Given the description of an element on the screen output the (x, y) to click on. 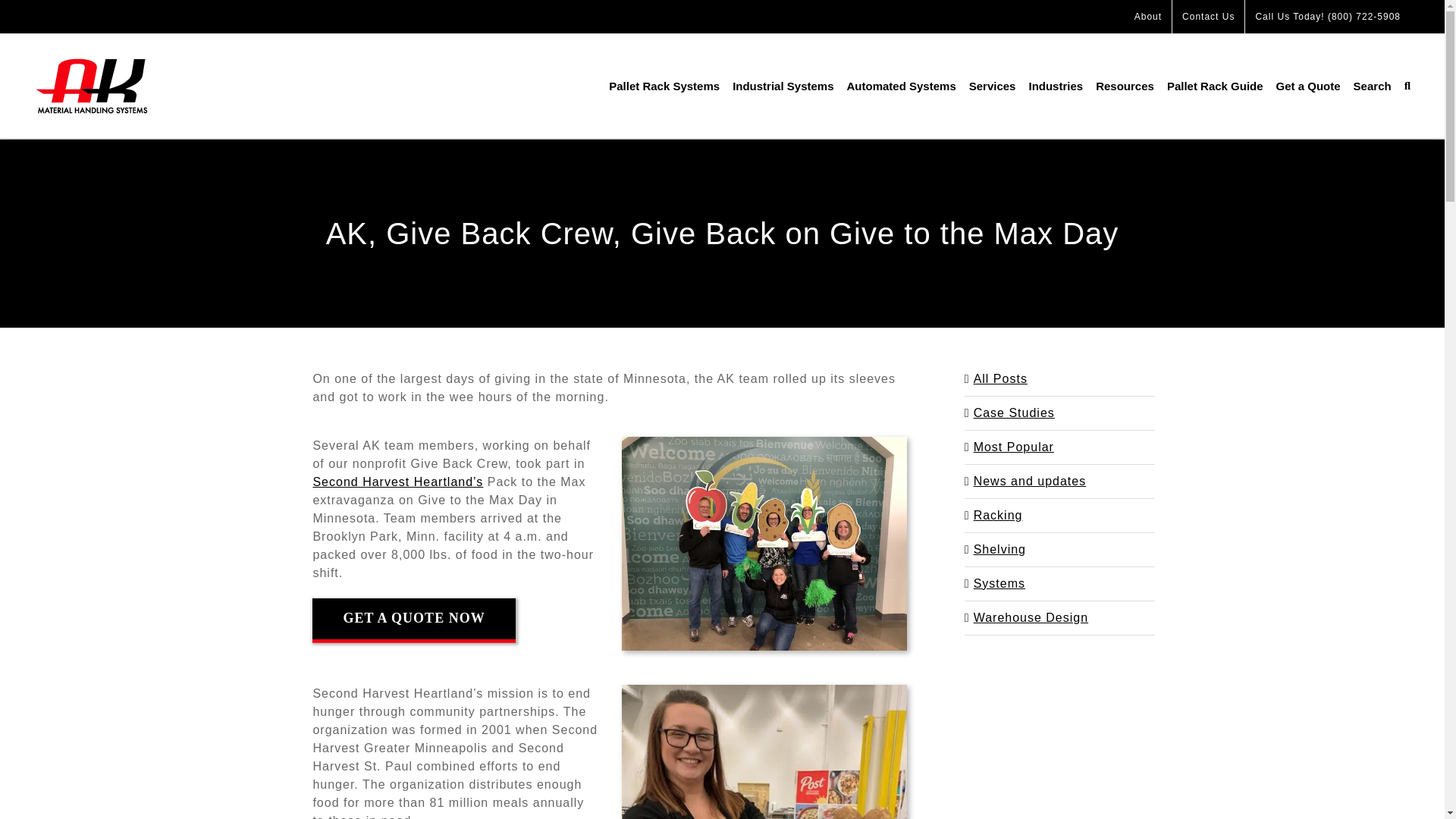
Pallet Rack Systems (663, 86)
Call Us Today!  (1327, 16)
Industrial Systems (782, 86)
Automated Systems (901, 86)
About (1148, 16)
Contact Us (1208, 16)
